Given the description of an element on the screen output the (x, y) to click on. 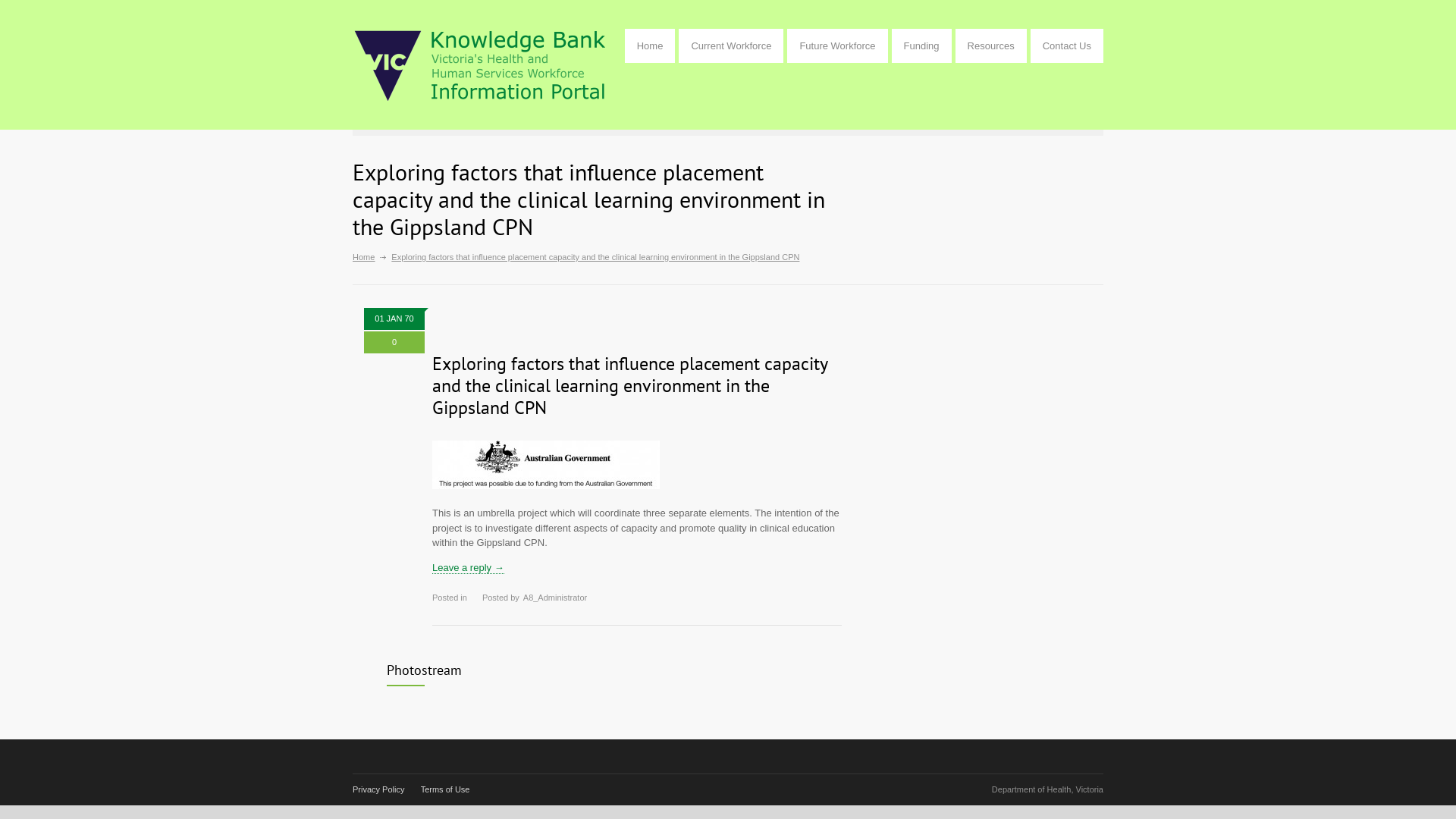
Resources Element type: text (990, 45)
Funding Element type: text (921, 45)
Home Element type: text (649, 45)
Future Workforce Element type: text (837, 45)
Contact Us Element type: text (1066, 45)
Terms of Use Element type: text (445, 788)
Current Workforce Element type: text (730, 45)
Privacy Policy Element type: text (378, 788)
Home Element type: text (363, 256)
0 Element type: text (394, 342)
